Given the description of an element on the screen output the (x, y) to click on. 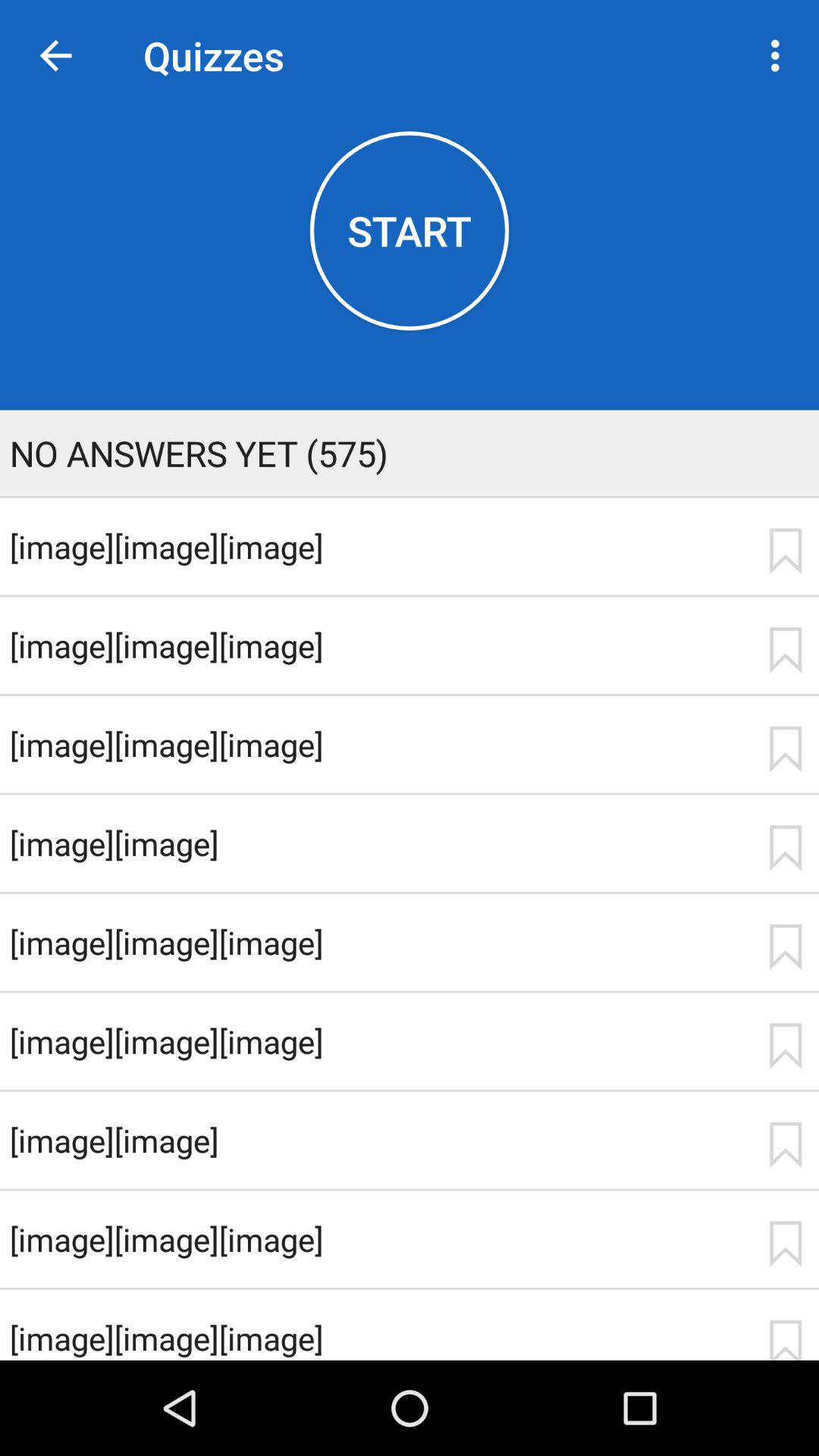
open the item next to [image][image] item (784, 1145)
